Given the description of an element on the screen output the (x, y) to click on. 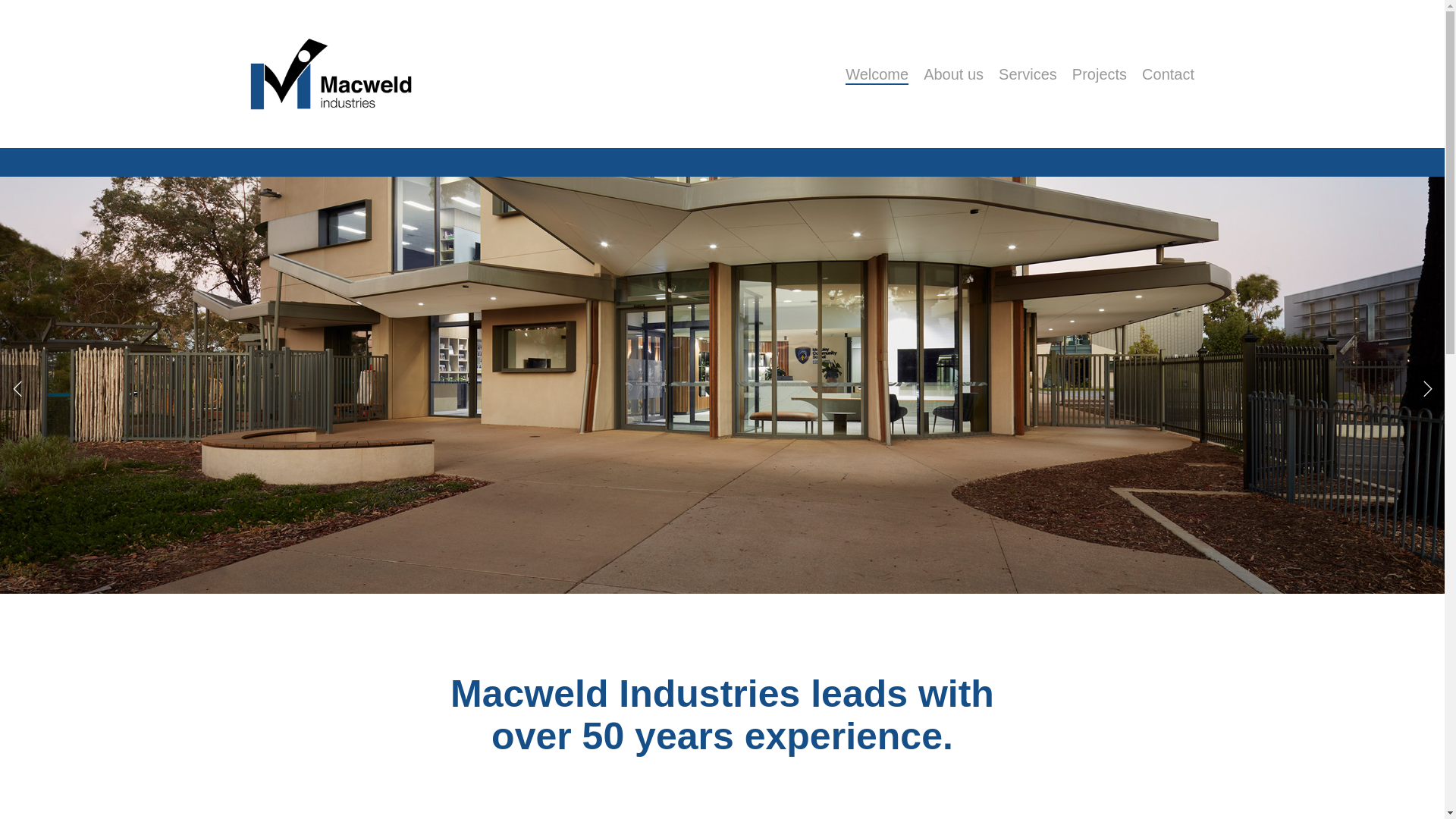
Services Element type: text (1027, 73)
Projects Element type: text (1099, 73)
About us Element type: text (953, 73)
Terms & Conditions Element type: text (296, 727)
Privacy Policy Element type: text (283, 705)
Welcome Element type: text (876, 73)
Contact Element type: text (1168, 73)
